Given the description of an element on the screen output the (x, y) to click on. 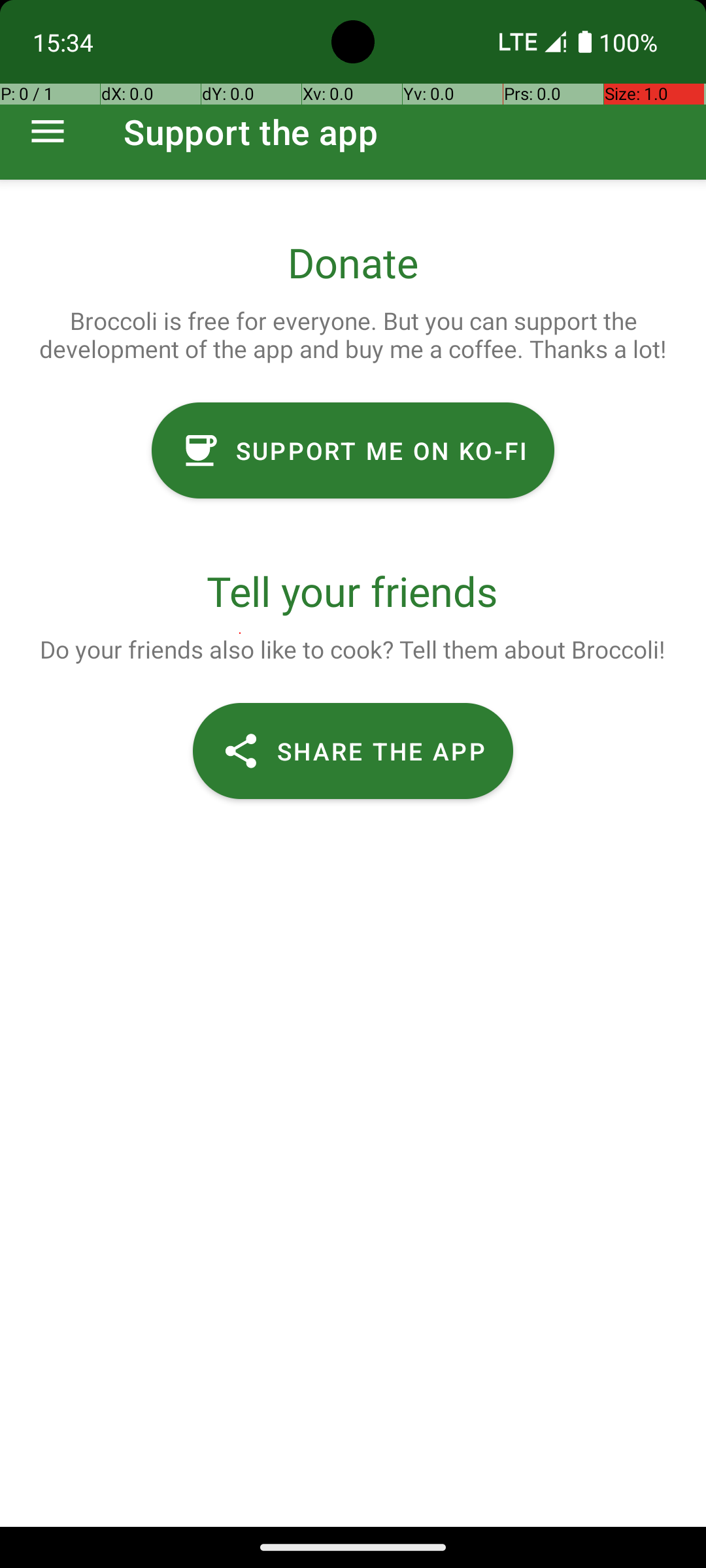
Broccoli is free for everyone. But you can support the development of the app and buy me a coffee. Thanks a lot! Element type: android.widget.TextView (352, 334)
SUPPORT ME ON KO-FI Element type: android.widget.Button (352, 450)
Tell your friends Element type: android.widget.TextView (352, 590)
Do your friends also like to cook? Tell them about Broccoli! Element type: android.widget.TextView (352, 648)
SHARE THE APP Element type: android.widget.Button (352, 750)
